Given the description of an element on the screen output the (x, y) to click on. 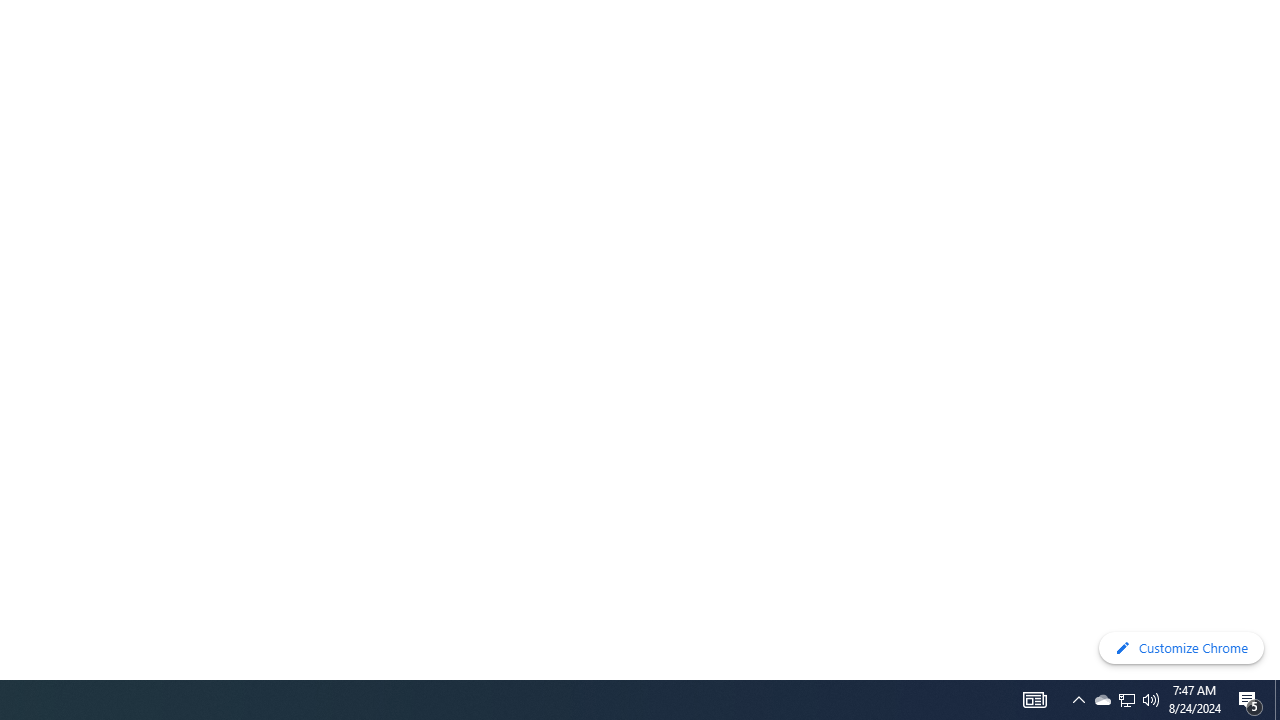
Customize Chrome (1181, 647)
